Given the description of an element on the screen output the (x, y) to click on. 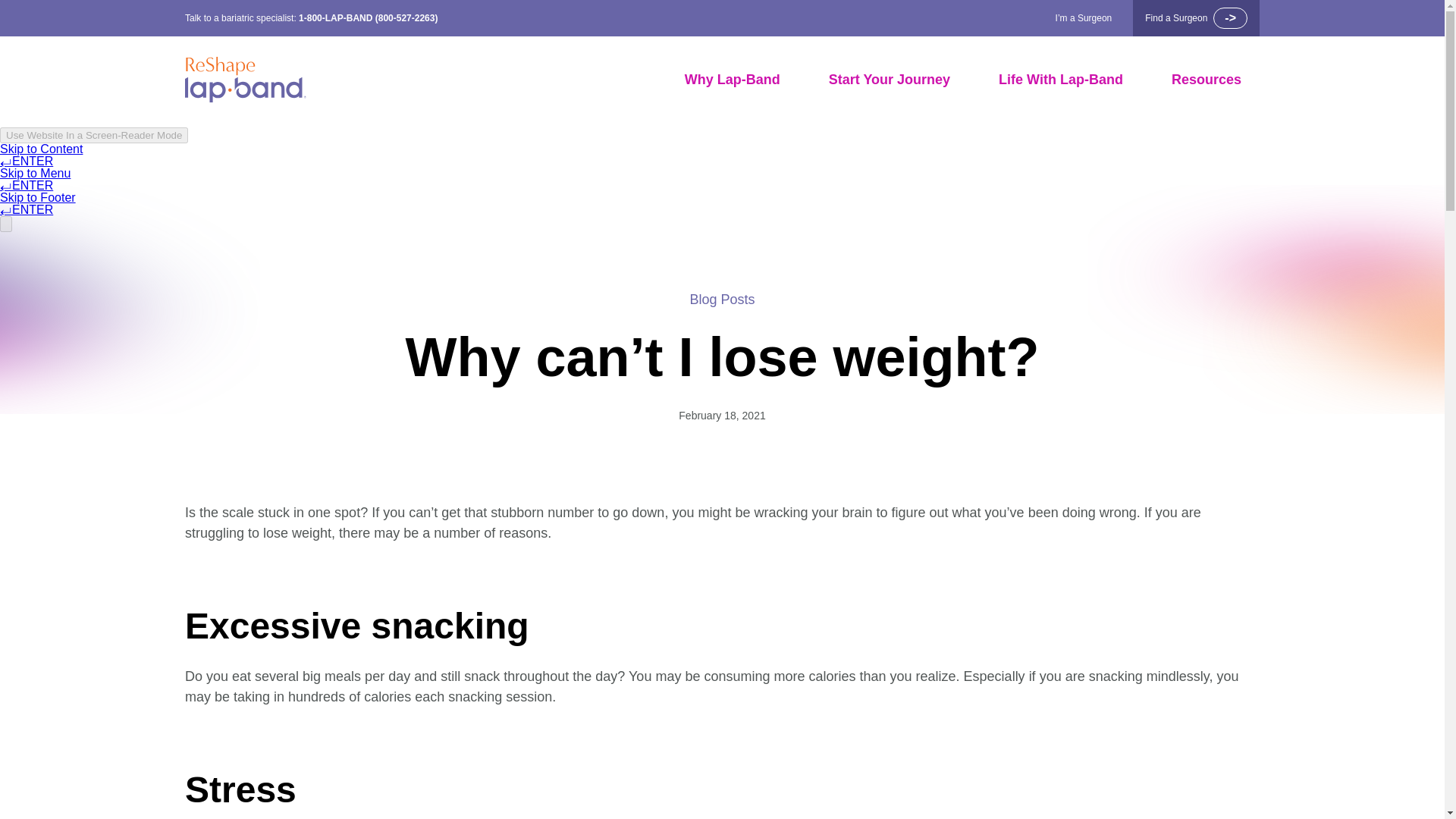
Resources (1206, 79)
logo (244, 79)
Life With Lap-Band (1060, 79)
Why Lap-Band (732, 79)
Start Your Journey (889, 79)
